Given the description of an element on the screen output the (x, y) to click on. 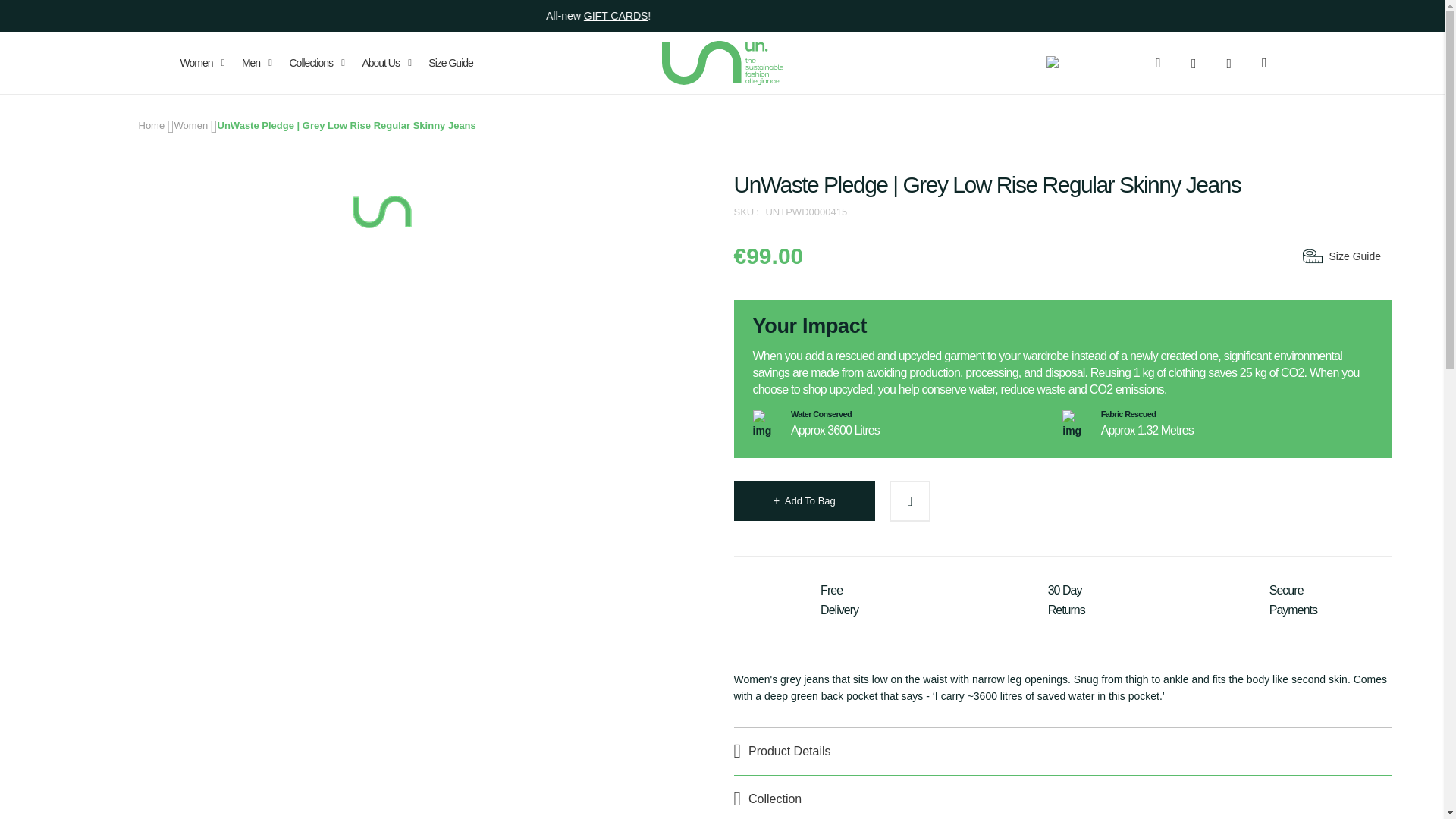
Size Guide (1340, 256)
Women (204, 62)
Women (191, 125)
Go to Home Page (151, 125)
Add to Wishlist (909, 500)
Size Guide (450, 62)
add to bag (804, 500)
Collections (316, 62)
Men (256, 62)
Home (151, 125)
